Given the description of an element on the screen output the (x, y) to click on. 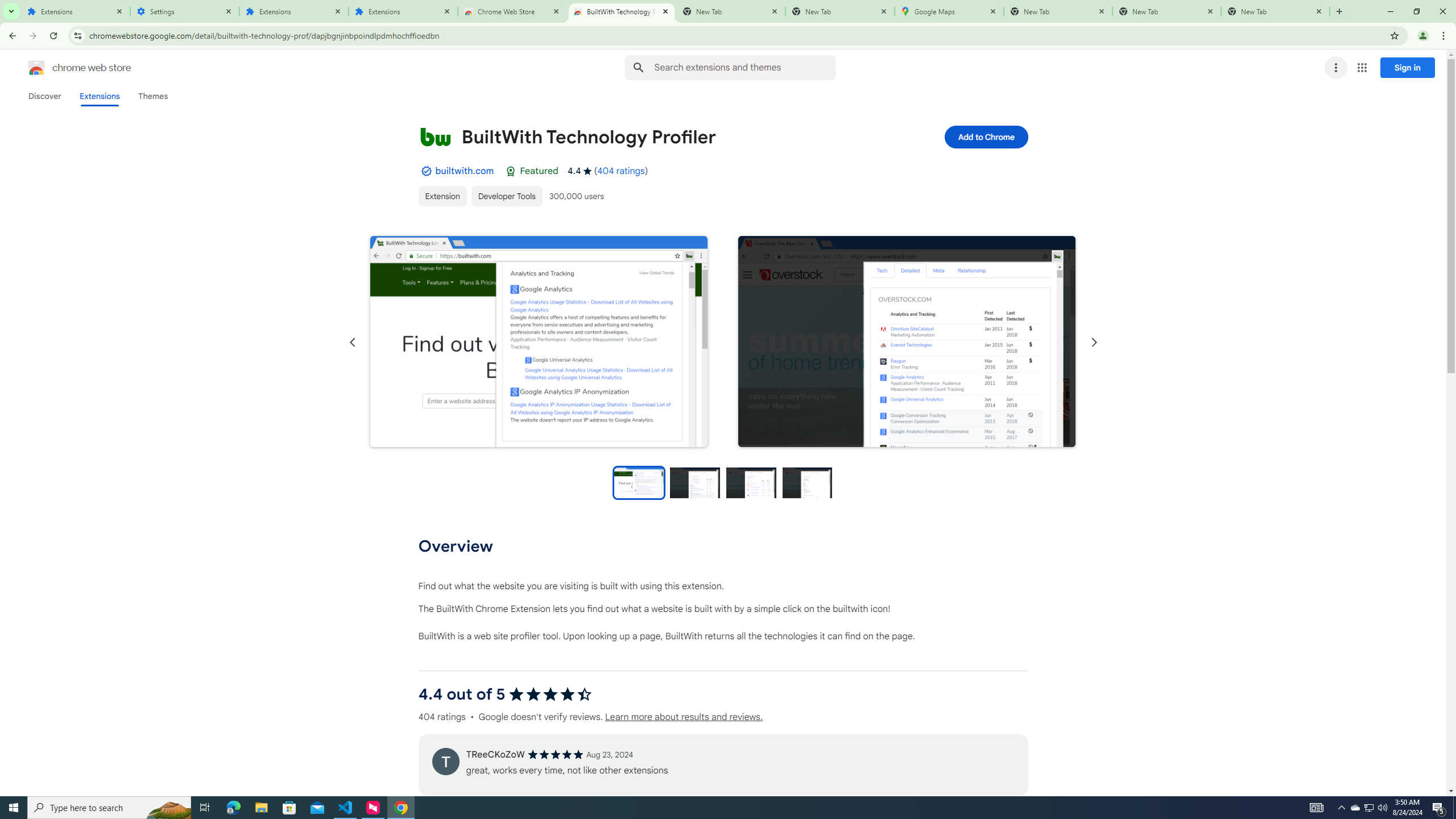
Extensions (403, 11)
Preview slide 2 (694, 482)
Discover (43, 95)
Next slide (1093, 342)
Settings (184, 11)
Chrome Web Store (512, 11)
Chrome Web Store logo chrome web store (67, 67)
New Tab (839, 11)
New Tab (1058, 11)
New Tab (1275, 11)
